Given the description of an element on the screen output the (x, y) to click on. 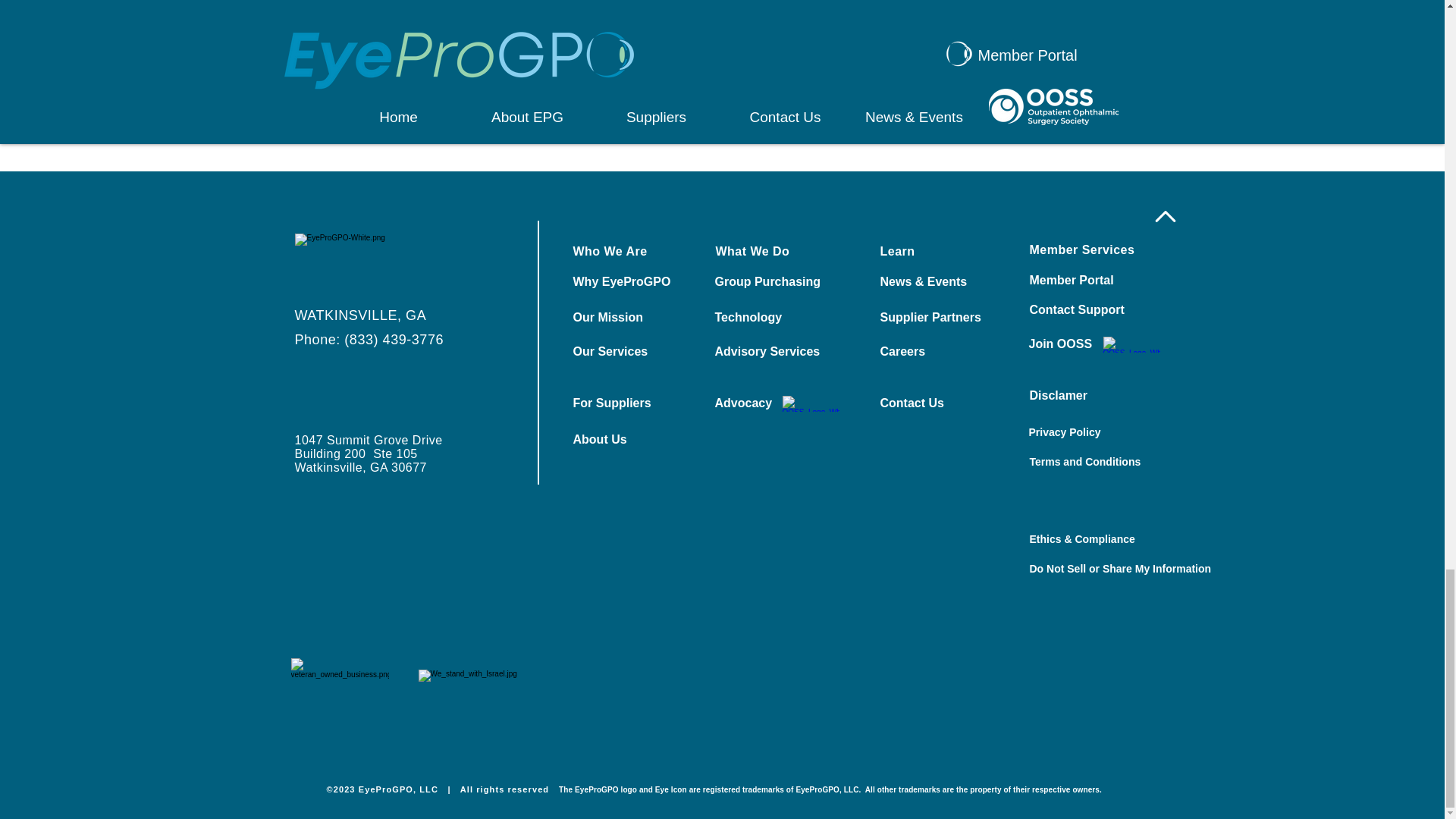
About Us (626, 440)
Advocacy (767, 403)
Contact Us (873, 71)
Join OOSS (1081, 344)
Contact Support (1083, 310)
Advisory Services (767, 351)
Contact Us (933, 403)
Group Purchasing (767, 282)
Join Today! (1042, 71)
Privacy Policy (1081, 432)
Our Services (626, 351)
Why EyeProGPO (626, 282)
Supplier Partners (933, 317)
For Suppliers (626, 403)
Technology (767, 317)
